Given the description of an element on the screen output the (x, y) to click on. 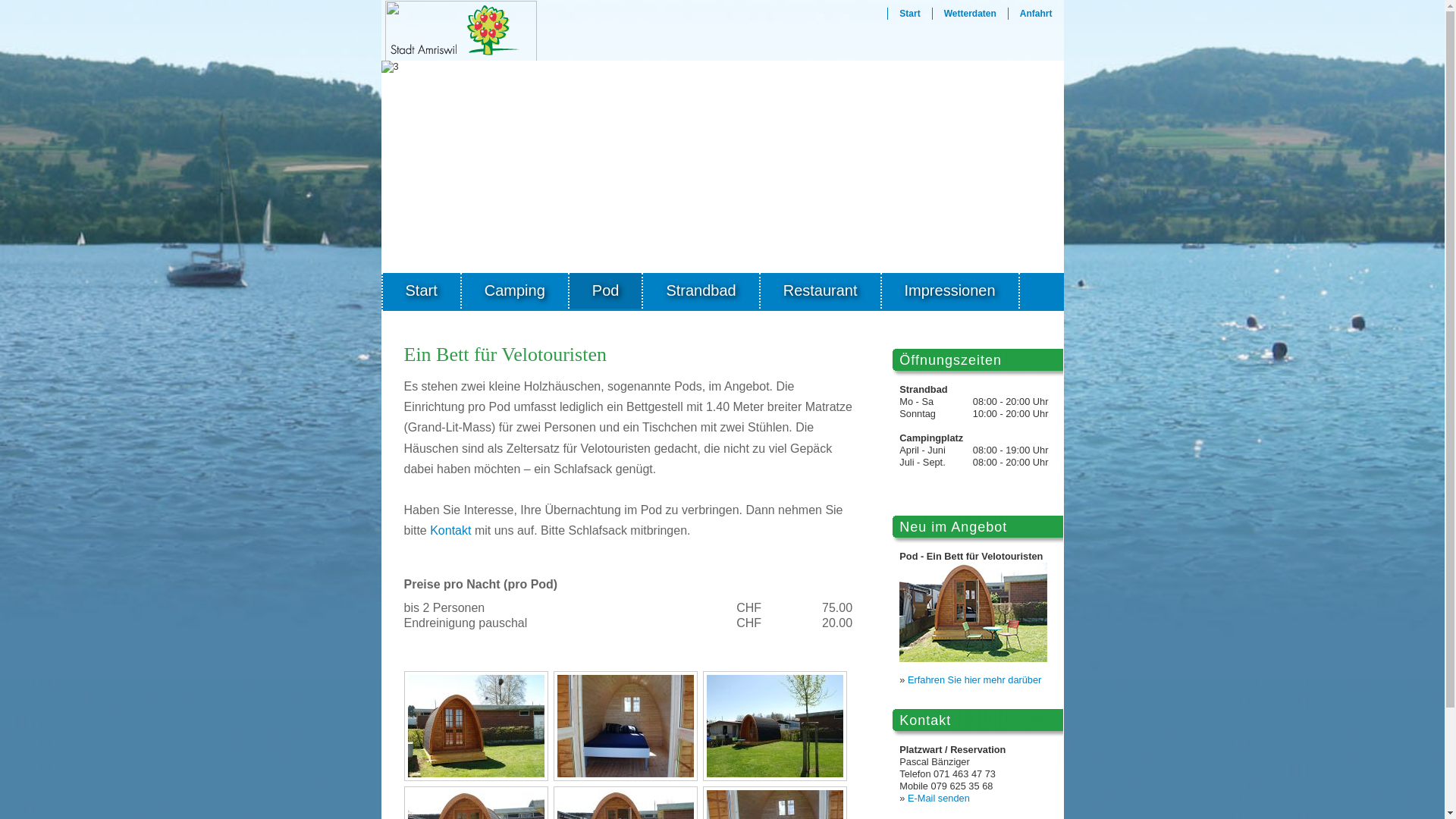
Anfahrt Element type: text (1035, 13)
Pod Element type: text (606, 290)
Camping Element type: text (515, 290)
Wetterdaten Element type: text (969, 13)
Kontakt Element type: text (449, 530)
3 Element type: hover (721, 166)
Restaurant Element type: text (820, 290)
 strandbad_pod_02.jpg Element type: hover (624, 725)
 strandbad_pod_01.jpg Element type: hover (475, 725)
Start Element type: text (421, 290)
Start Element type: text (909, 13)
Strandbad Element type: text (701, 290)
E-Mail senden Element type: text (938, 797)
 strandbad_pod_03.jpg Element type: hover (774, 725)
Impressionen Element type: text (950, 290)
